Given the description of an element on the screen output the (x, y) to click on. 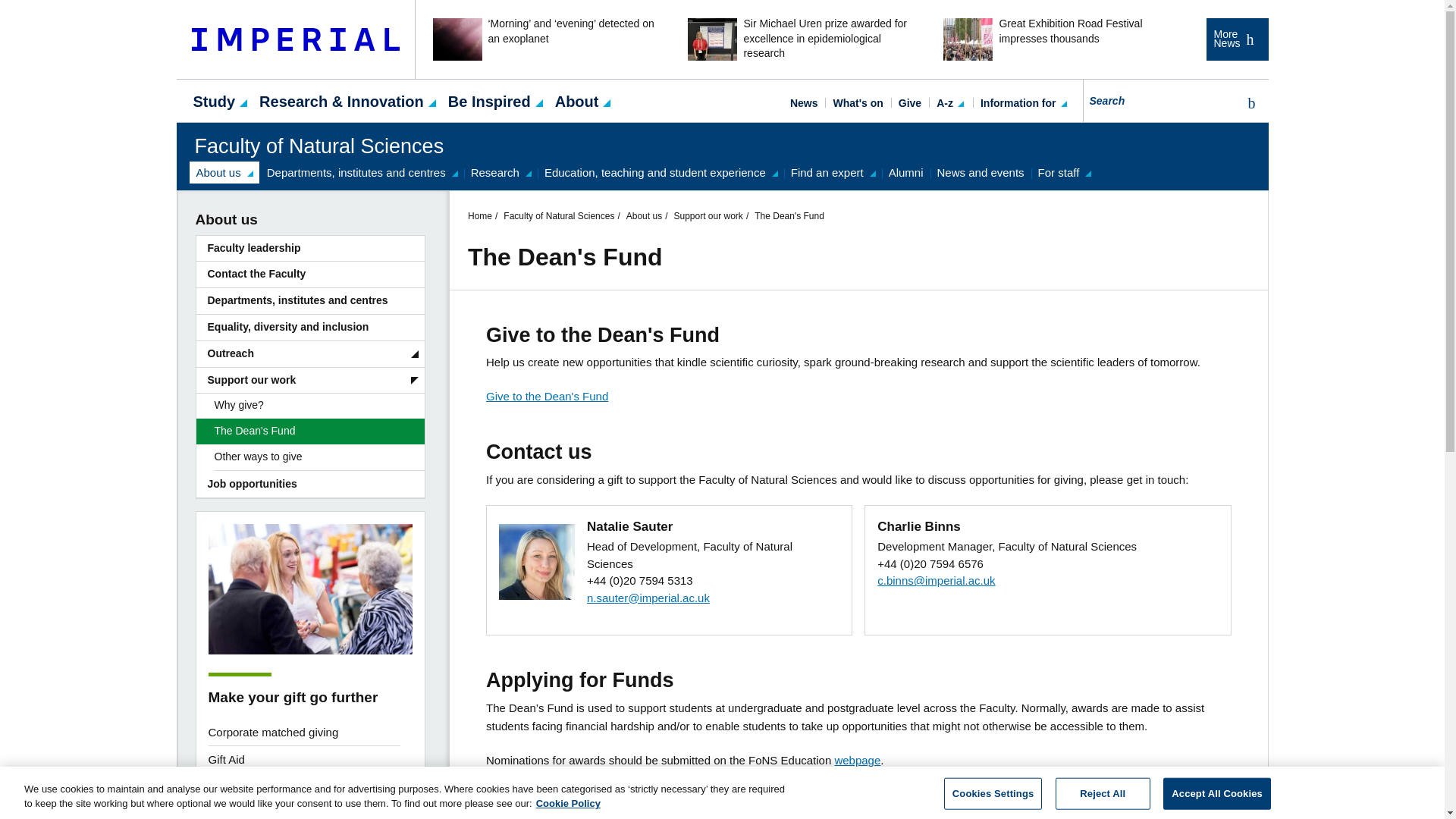
Search for... (1161, 100)
More News (1236, 39)
Study (213, 100)
Search (1249, 102)
Imperial College London (295, 39)
Imperial College London Home (295, 39)
Great Exhibition Road Festival impresses thousands (1053, 38)
